Given the description of an element on the screen output the (x, y) to click on. 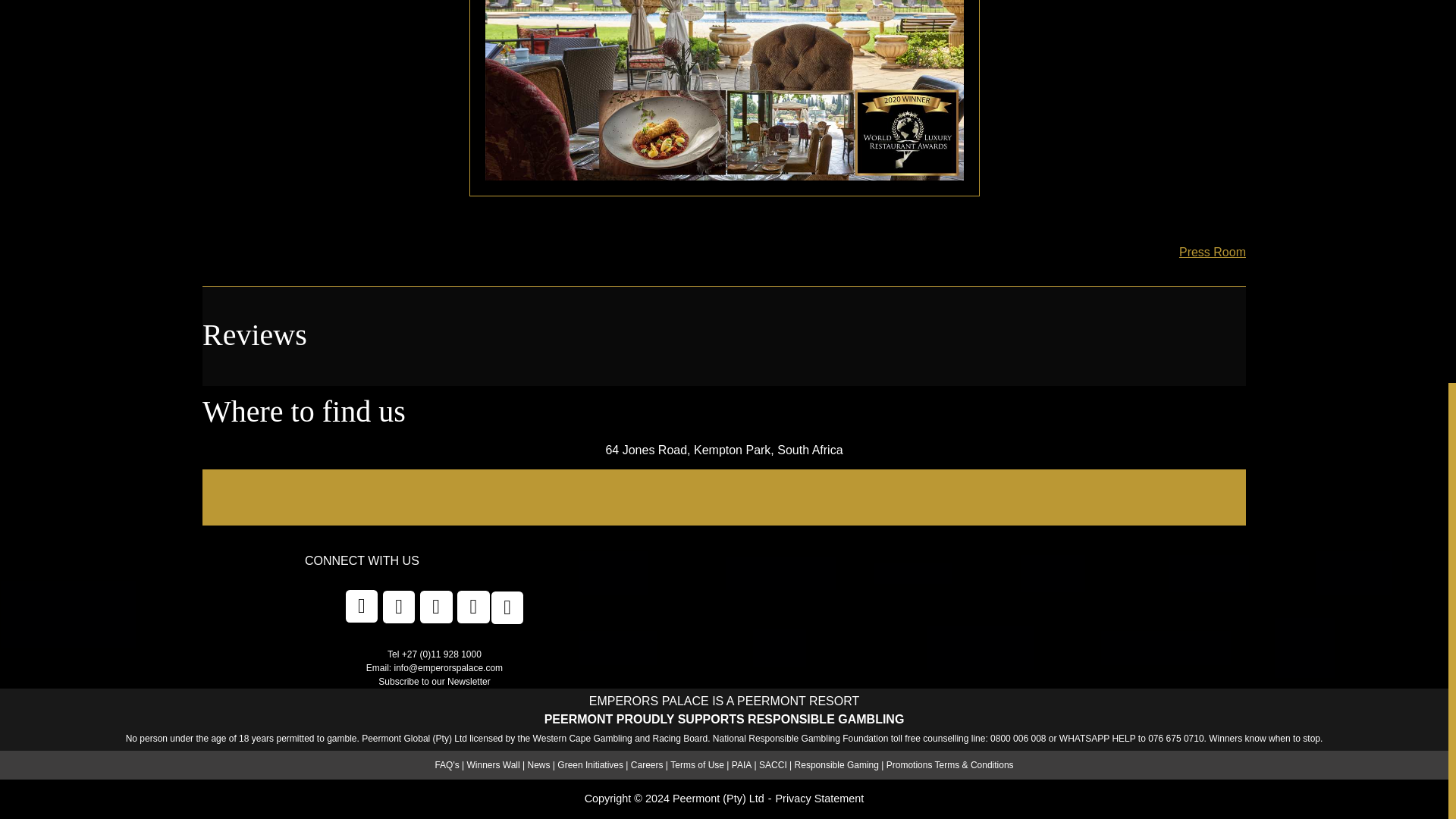
Emperors Palace Hotel Casino Convention Resort on Facebook (362, 605)
Emperors Palace Hotel Casino Convention Resort on Linkedin (436, 606)
Emperors Palace Hotel Casino Convention Resort on Youtube (473, 606)
Emperors Palace Hotel Casino Convention Resort on Instagram (508, 607)
Emperors Palace Hotel Casino Convention Resort on X (398, 606)
